Given the description of an element on the screen output the (x, y) to click on. 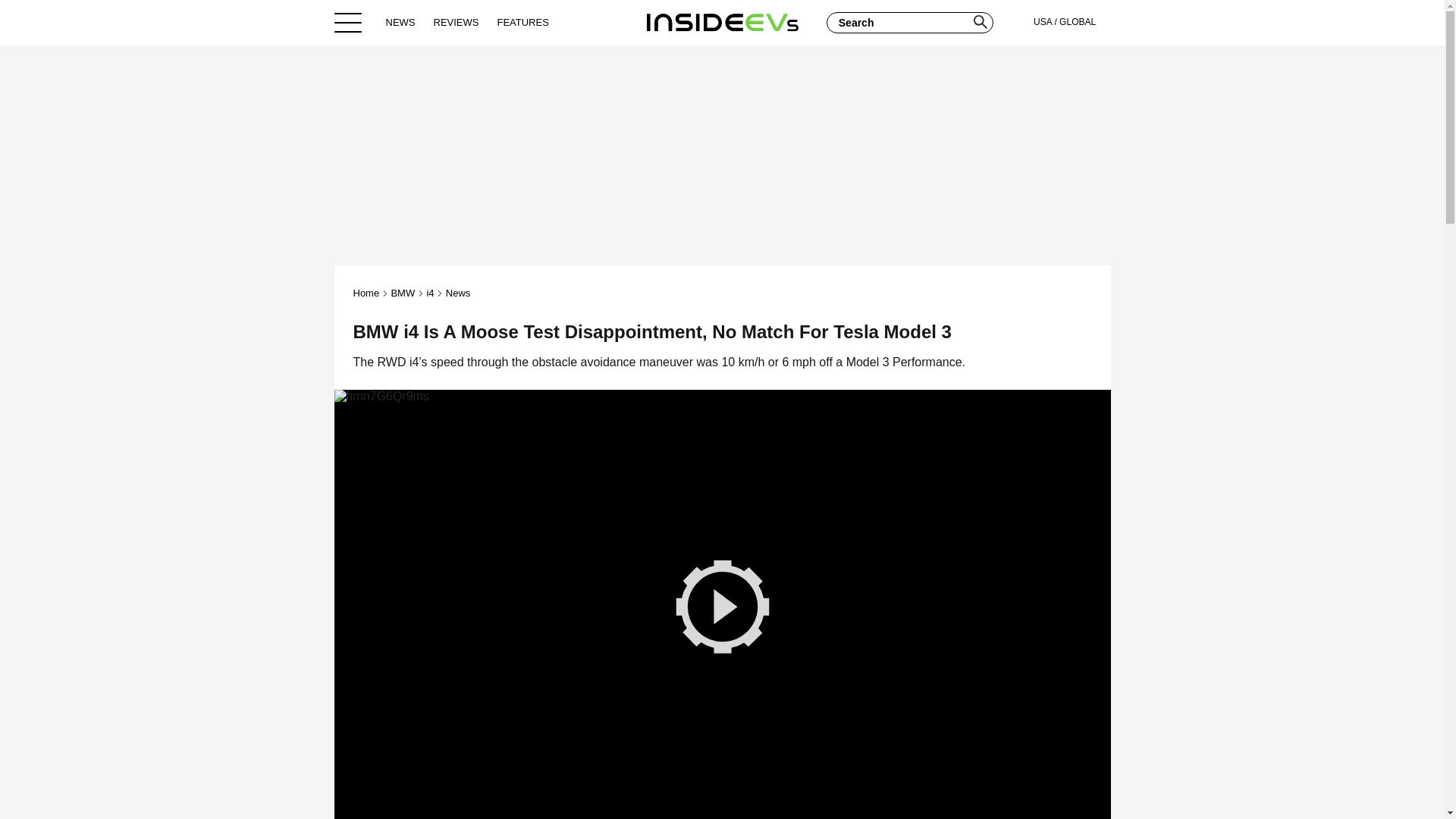
NEWS (399, 22)
FEATURES (522, 22)
News (457, 292)
Home (721, 22)
REVIEWS (456, 22)
BMW (402, 292)
i4 (429, 292)
Home (366, 293)
